Given the description of an element on the screen output the (x, y) to click on. 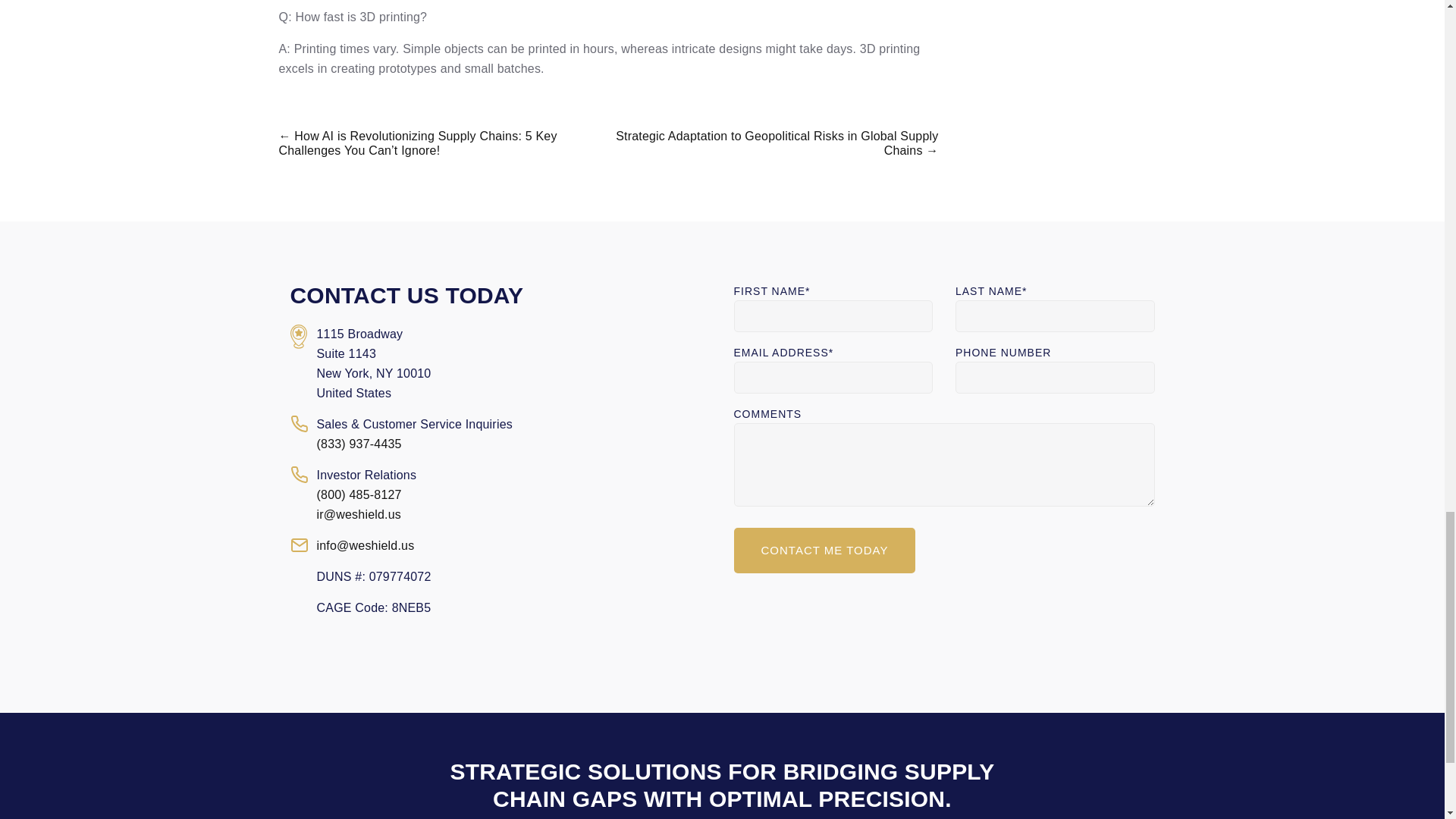
CONTACT ME TODAY (824, 550)
CONTACT ME TODAY (824, 550)
